Given the description of an element on the screen output the (x, y) to click on. 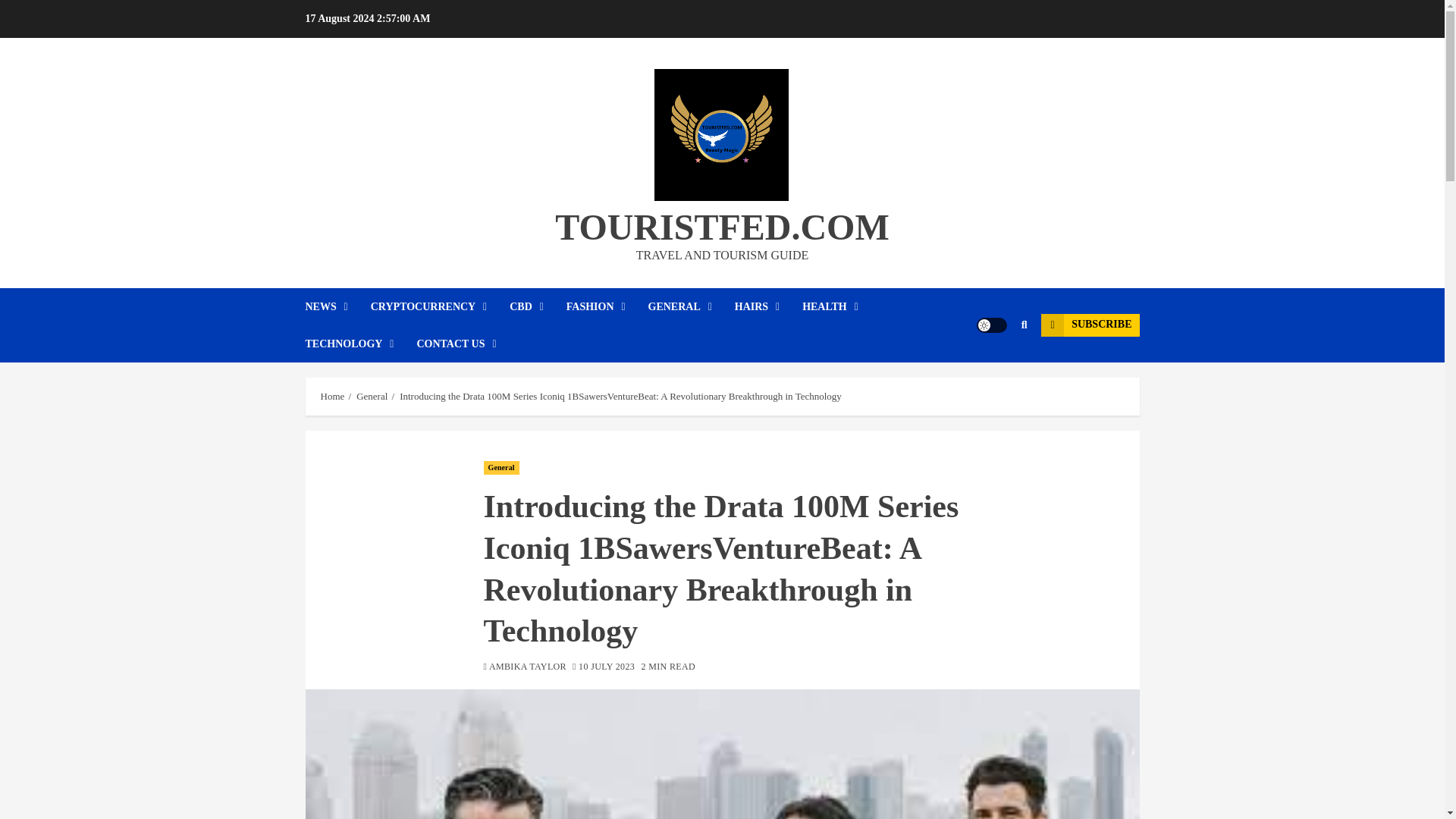
GENERAL (691, 306)
NEWS (336, 306)
CBD (537, 306)
TOURISTFED.COM (721, 227)
CRYPTOCURRENCY (440, 306)
FASHION (606, 306)
